Given the description of an element on the screen output the (x, y) to click on. 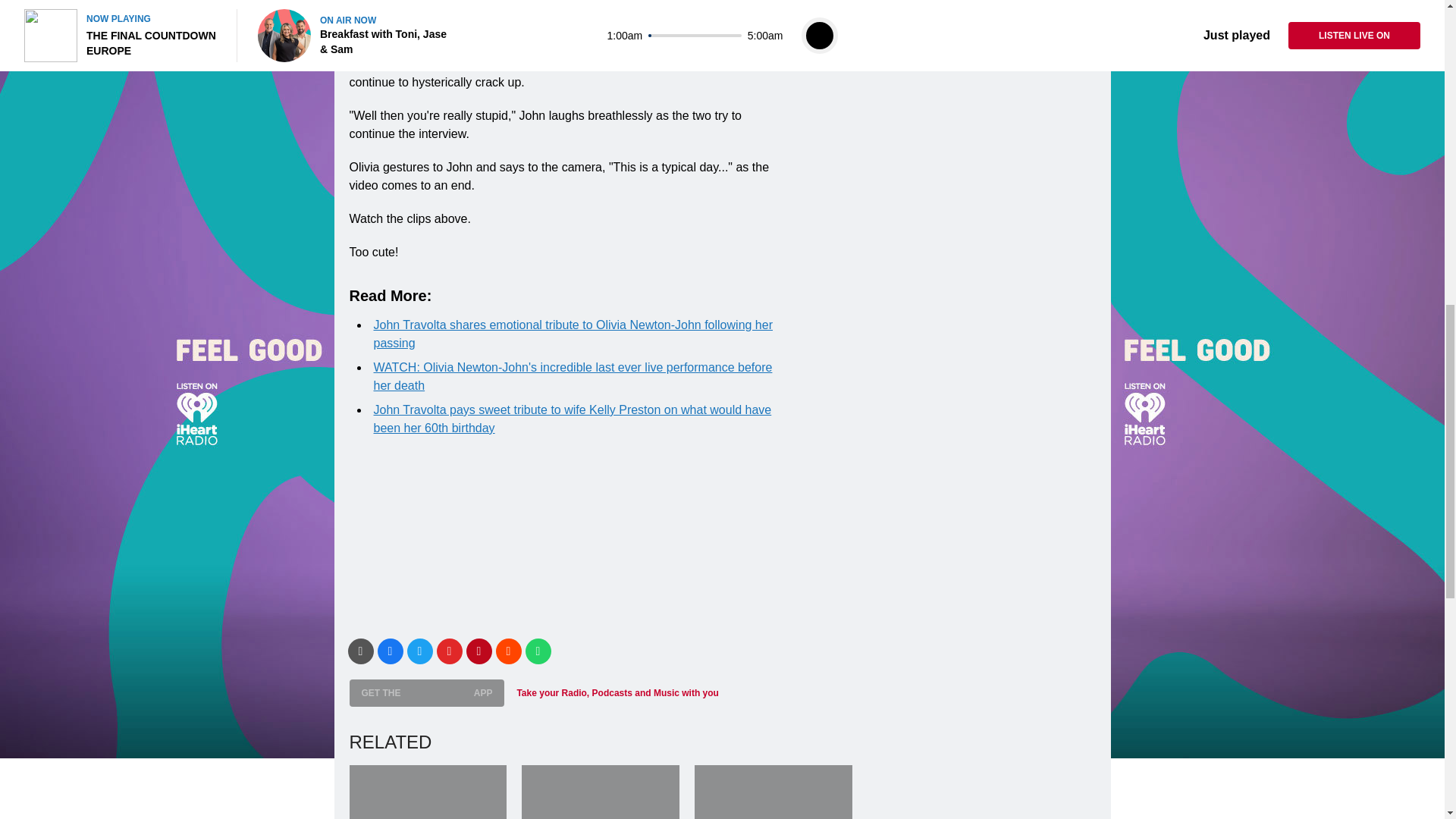
Share with flipboard (449, 651)
Share with pinterest (478, 651)
Share with whatsapp (537, 651)
Share with reddit (508, 651)
Share with email (359, 651)
Share with twitter (419, 651)
Share with facebook (390, 651)
